Given the description of an element on the screen output the (x, y) to click on. 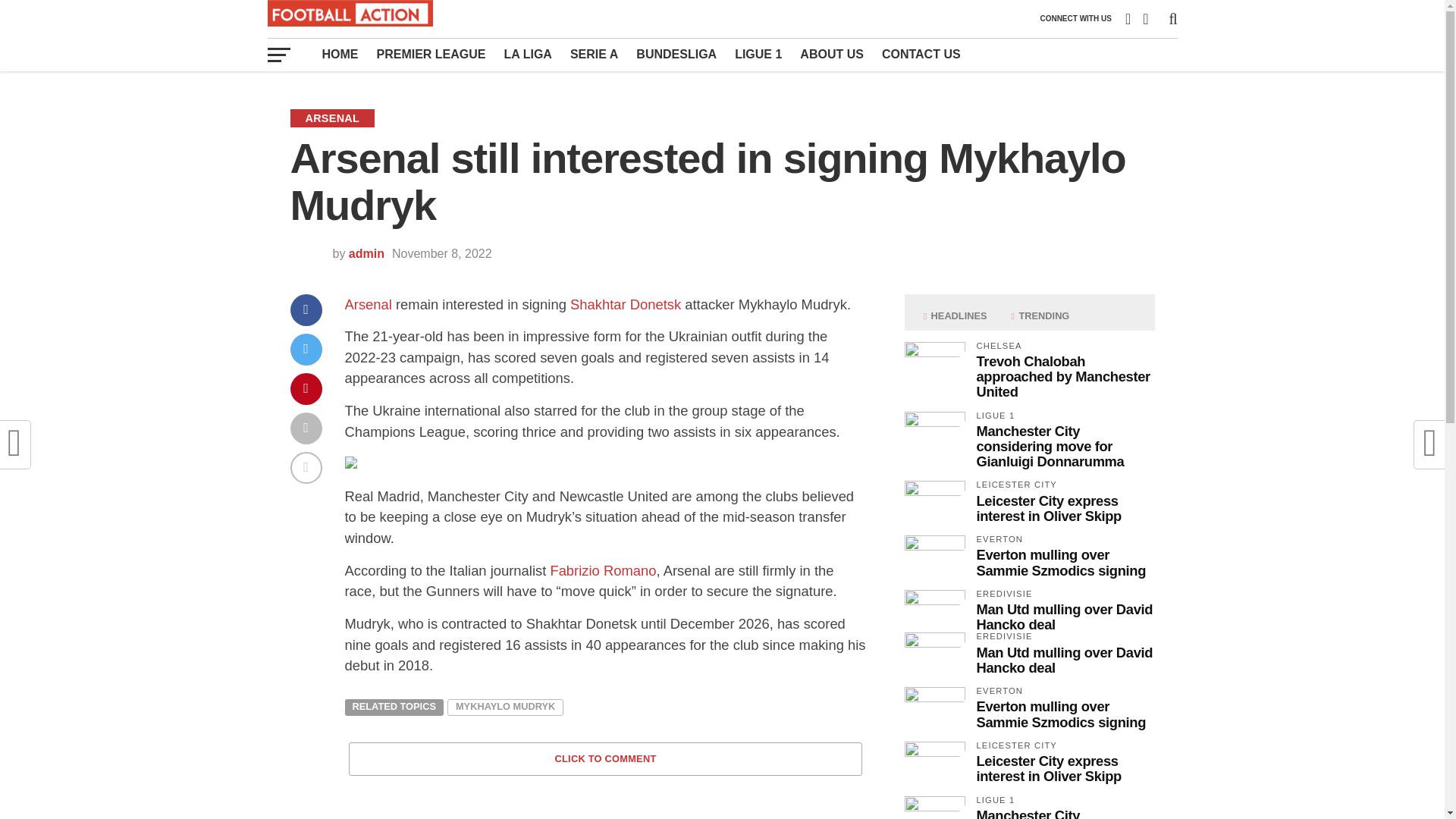
HEADLINES (954, 316)
Leicester City express interest in Oliver Skipp (1048, 508)
BUNDESLIGA (676, 54)
MYKHAYLO MUDRYK (504, 707)
LA LIGA (527, 54)
TRENDING (1039, 316)
Fabrizio Romano (603, 570)
Arsenal (367, 304)
Trevoh Chalobah approached by Manchester United (1063, 375)
Manchester City considering move for Gianluigi Donnarumma (1050, 446)
Posts by admin (366, 253)
HOME (339, 54)
LIGUE 1 (757, 54)
Shakhtar Donetsk (625, 304)
ABOUT US (831, 54)
